Given the description of an element on the screen output the (x, y) to click on. 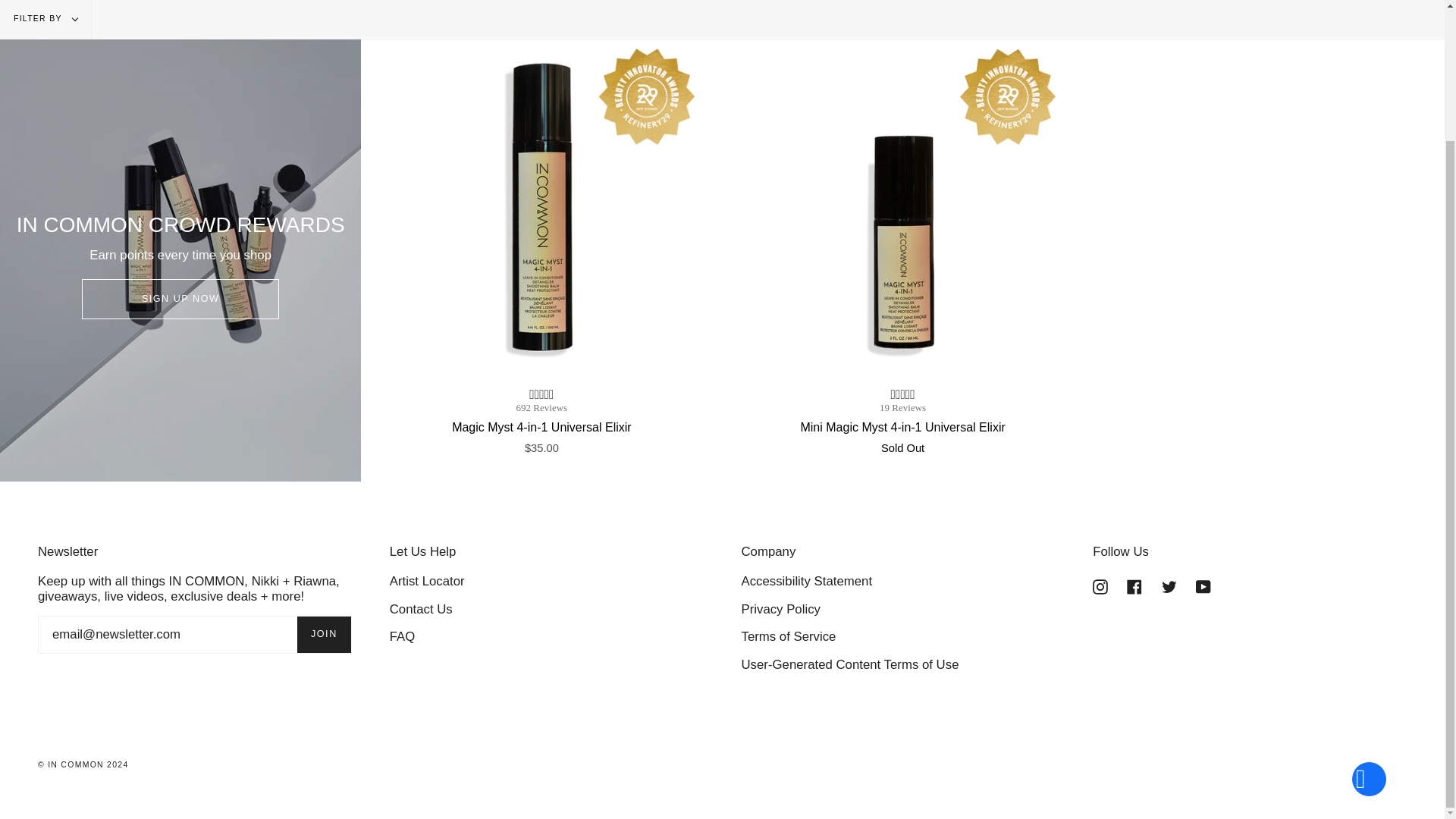
IN COMMON on Twitter (1168, 585)
IN COMMON on YouTube (1203, 585)
IN COMMON on Facebook (1133, 585)
IN COMMON on Instagram (1100, 585)
